Given the description of an element on the screen output the (x, y) to click on. 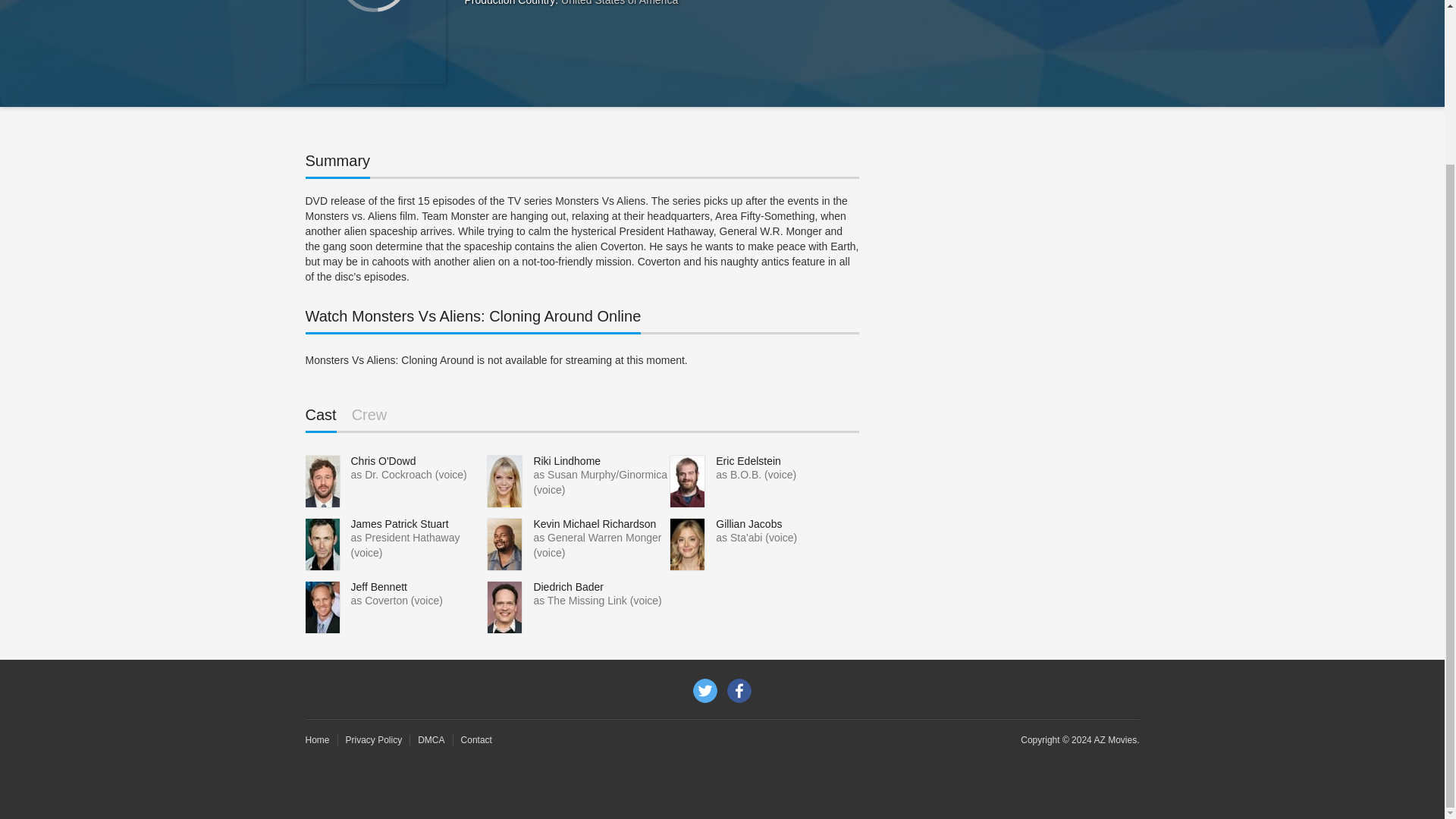
Chris O'Dowd (382, 460)
Riki Lindhome (565, 460)
Crew (369, 418)
Cast (320, 419)
